Given the description of an element on the screen output the (x, y) to click on. 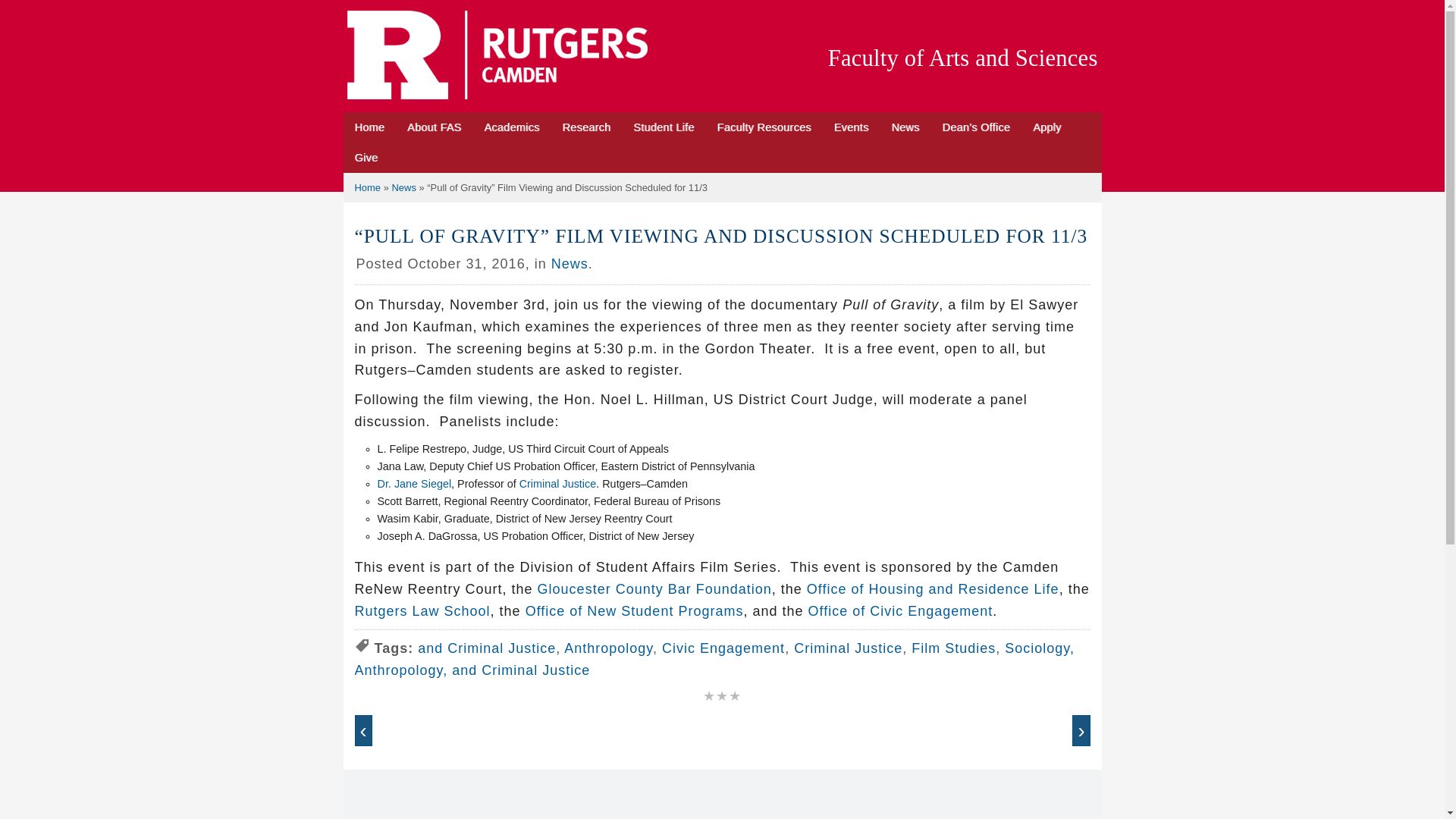
Research (585, 127)
Academics (510, 127)
Events (851, 127)
Go to Faculty of Arts and Sciences. (368, 187)
Go to News. (402, 187)
Student Life (662, 127)
Faculty Resources (764, 127)
Faculty of Arts and Sciences (962, 58)
About FAS (433, 127)
Home (369, 127)
